Given the description of an element on the screen output the (x, y) to click on. 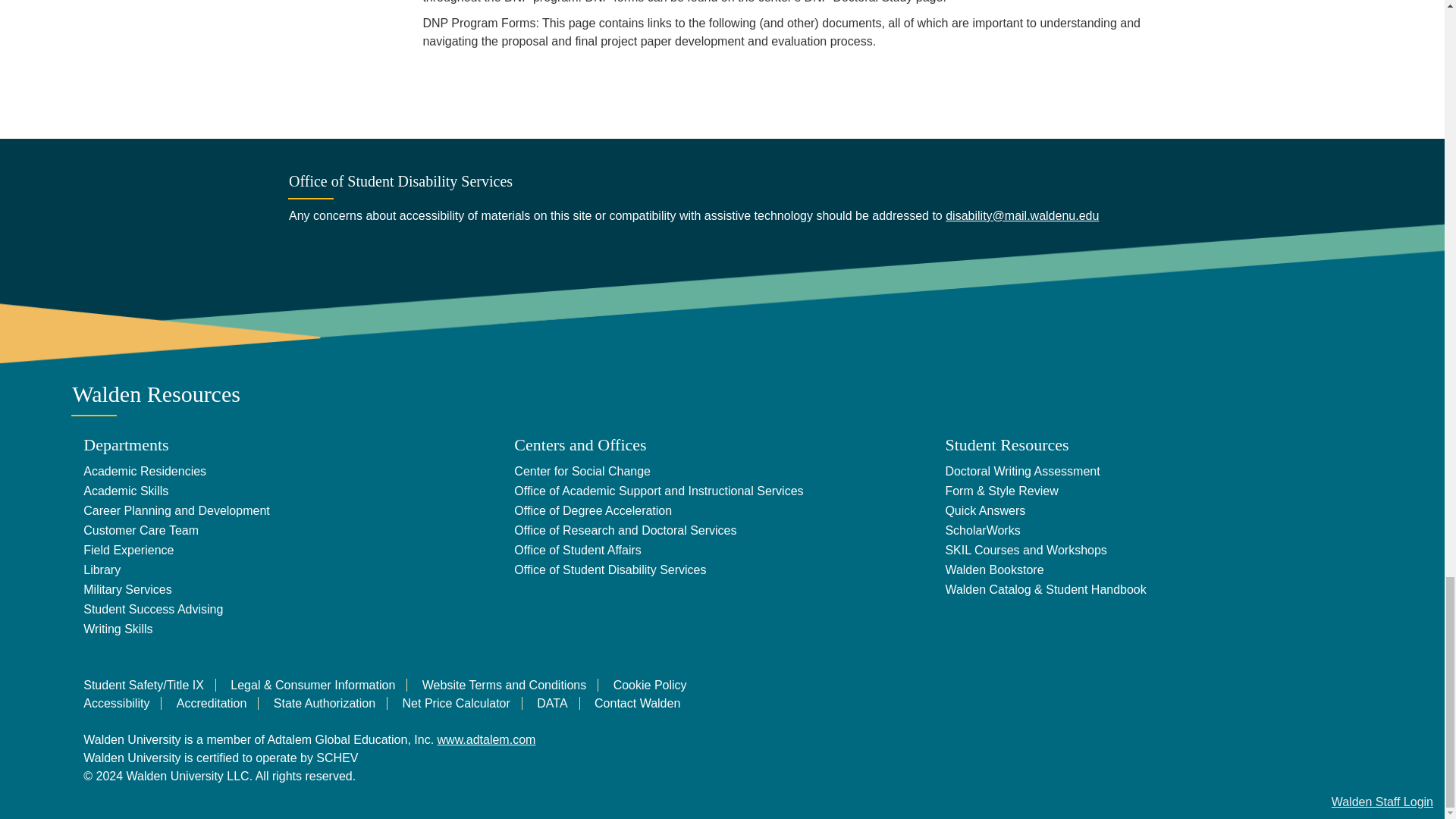
Academic Residencies (144, 470)
